Given the description of an element on the screen output the (x, y) to click on. 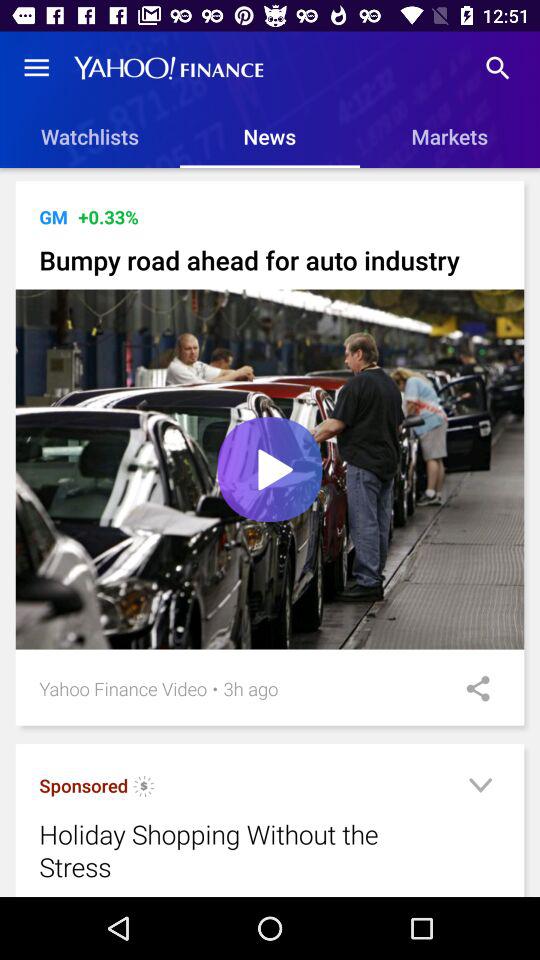
launch item above the bumpy road ahead (53, 216)
